Given the description of an element on the screen output the (x, y) to click on. 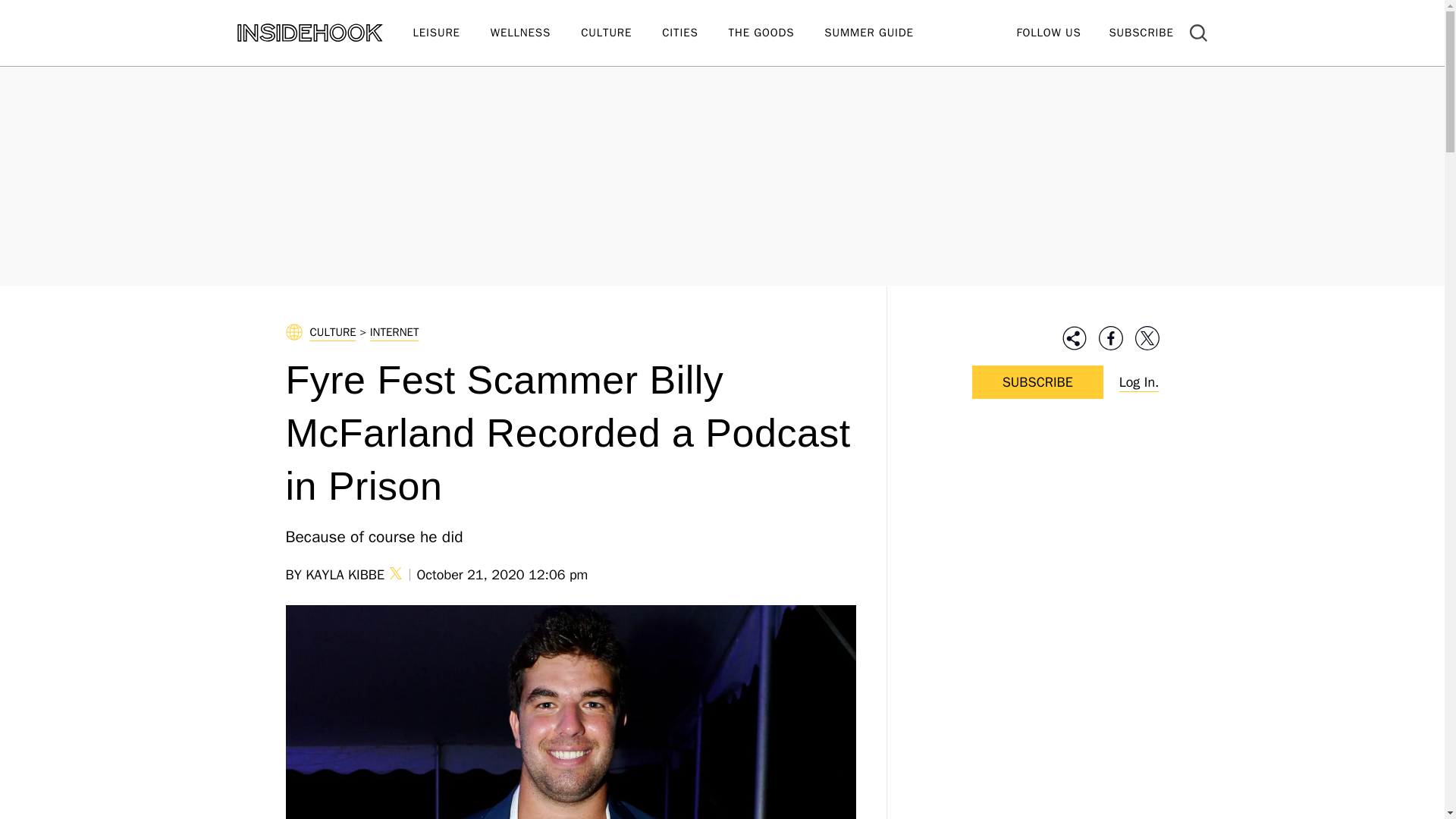
THE GOODS (777, 32)
SUMMER GUIDE (883, 32)
CITIES (695, 32)
LEISURE (450, 32)
FOLLOW US (1048, 32)
WELLNESS (535, 32)
SUBSCRIBE (1140, 32)
CULTURE (621, 32)
